Given the description of an element on the screen output the (x, y) to click on. 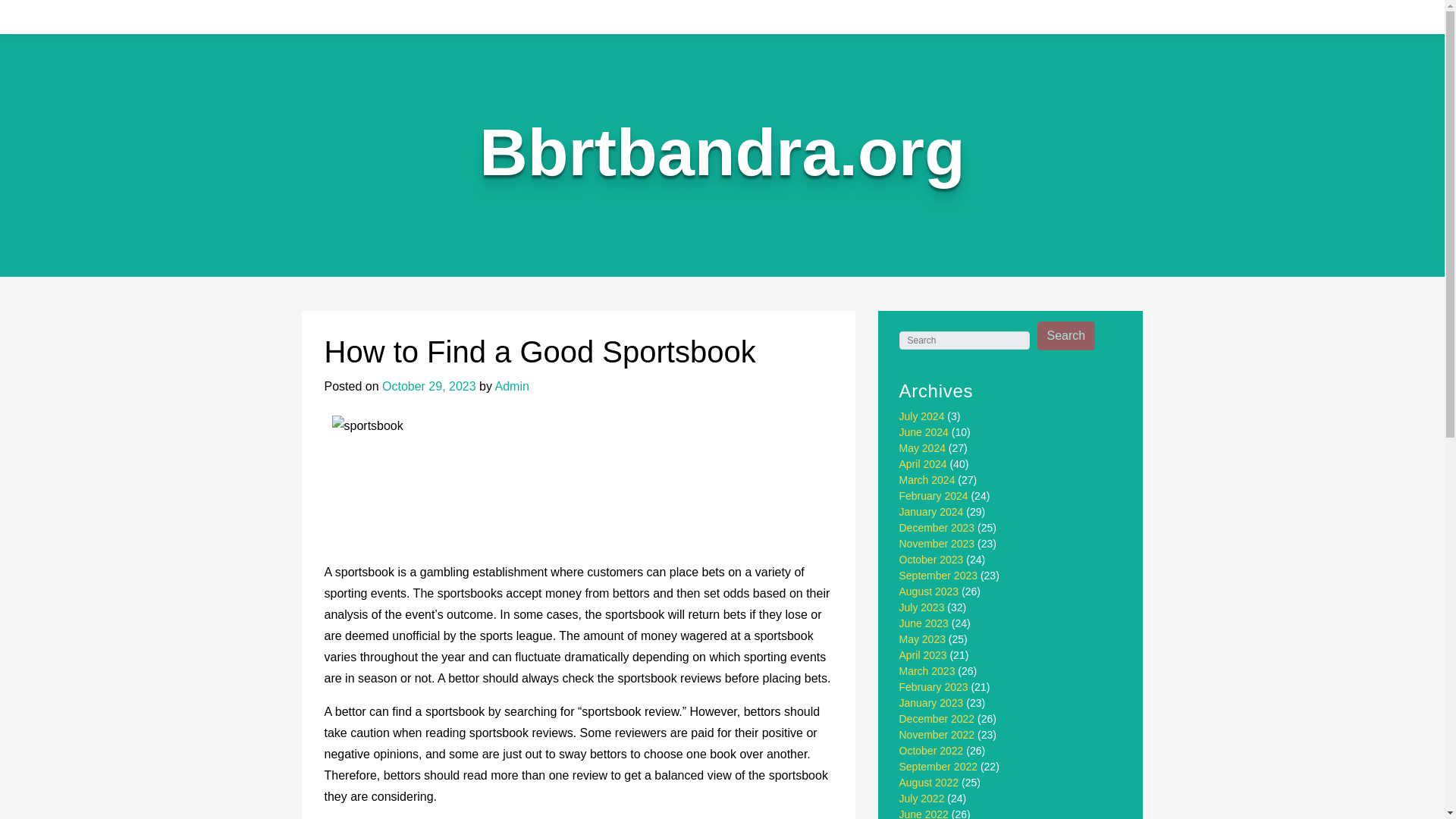
October 2022 (931, 750)
Admin (512, 386)
December 2022 (937, 718)
Search (1066, 335)
July 2023 (921, 607)
May 2023 (921, 639)
August 2023 (929, 591)
September 2023 (938, 575)
August 2022 (929, 782)
May 2024 (921, 448)
March 2023 (927, 671)
February 2023 (933, 686)
September 2022 (938, 766)
October 2023 (931, 559)
March 2024 (927, 480)
